Given the description of an element on the screen output the (x, y) to click on. 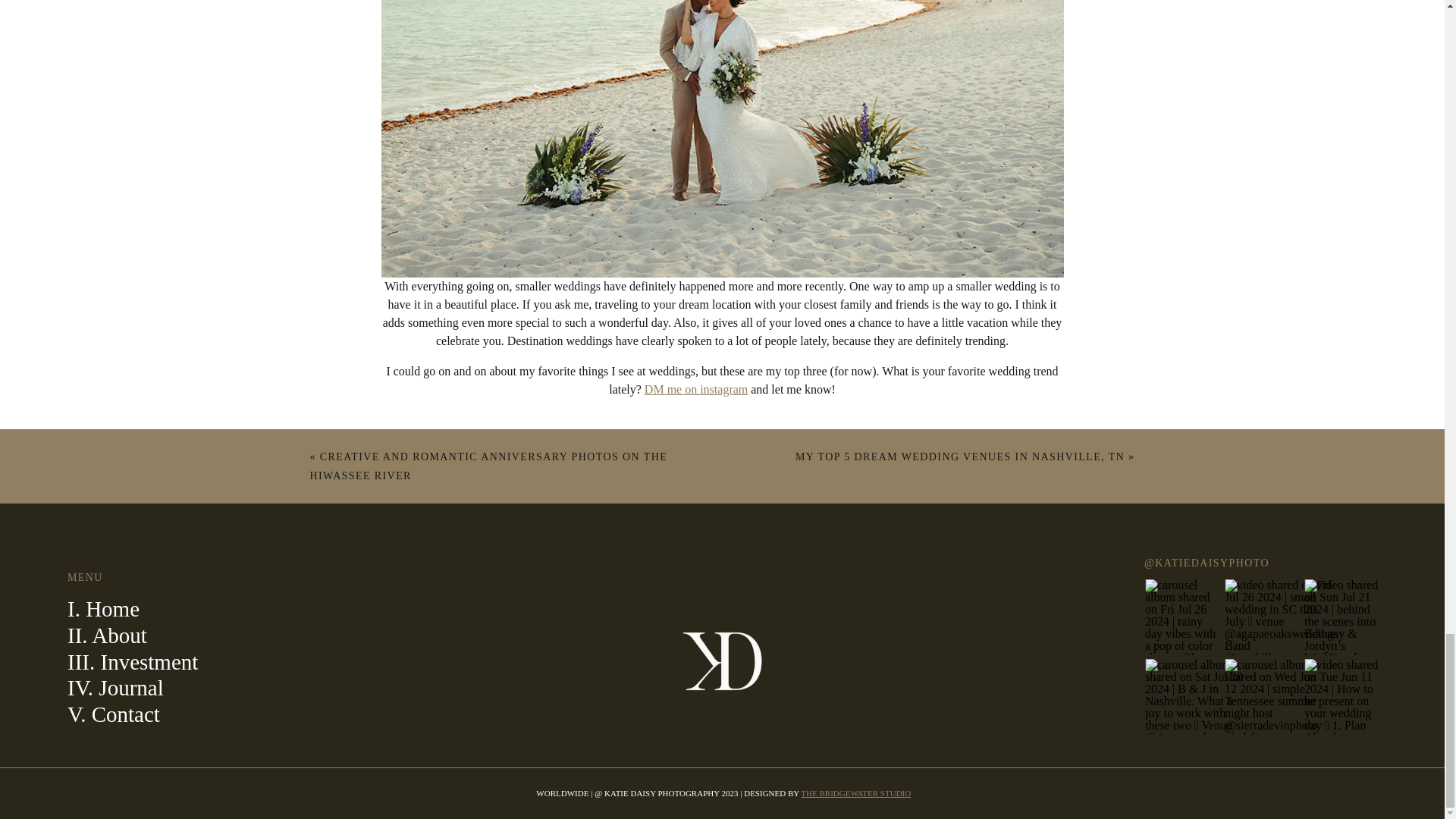
THE BRIDGEWATER STUDIO (855, 792)
II. About (106, 635)
I. Home (102, 608)
V. Contact (113, 713)
DM me on instagram (696, 389)
MY TOP 5 DREAM WEDDING VENUES IN NASHVILLE, TN (959, 456)
III. Investment (132, 662)
IV. Journal (114, 687)
